Given the description of an element on the screen output the (x, y) to click on. 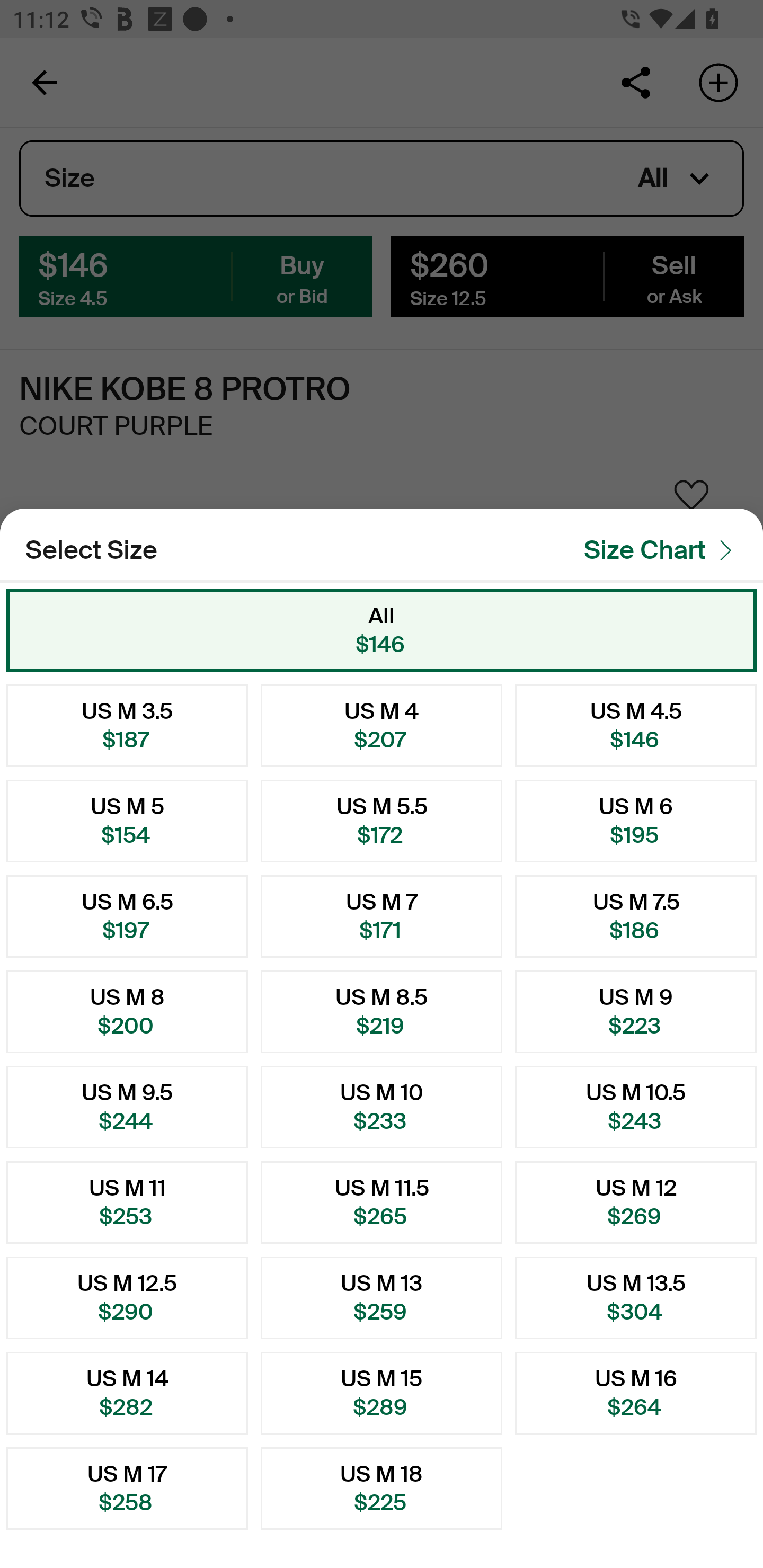
Size Chart (663, 550)
All $146 (381, 630)
US M 3.5 $187 (126, 724)
US M 4 $207 (381, 724)
US M 4.5 $146 (635, 724)
US M 5 $154 (126, 820)
US M 5.5 $172 (381, 820)
US M 6 $195 (635, 820)
US M 6.5 $197 (126, 916)
US M 7 $171 (381, 916)
US M 7.5 $186 (635, 916)
US M 8 $200 (126, 1011)
US M 8.5 $219 (381, 1011)
US M 9 $223 (635, 1011)
US M 9.5 $244 (126, 1106)
US M 10 $233 (381, 1106)
US M 10.5 $243 (635, 1106)
US M 11 $253 (126, 1202)
US M 11.5 $265 (381, 1202)
US M 12 $269 (635, 1202)
US M 12.5 $290 (126, 1297)
US M 13 $259 (381, 1297)
US M 13.5 $304 (635, 1297)
US M 14 $282 (126, 1392)
US M 15 $289 (381, 1392)
US M 16 $264 (635, 1392)
US M 17 $258 (126, 1488)
US M 18 $225 (381, 1488)
